Given the description of an element on the screen output the (x, y) to click on. 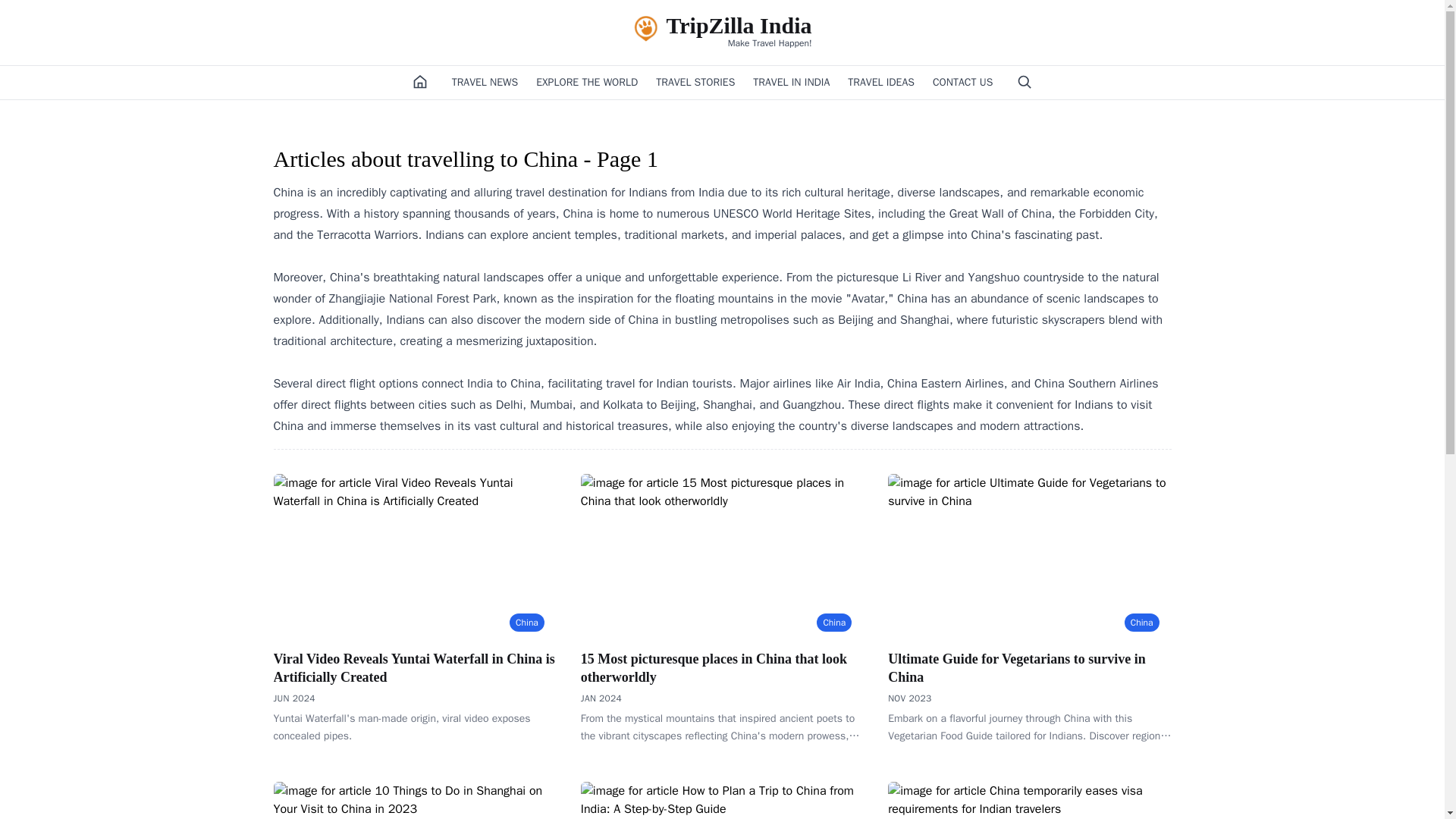
TRAVEL STORIES (695, 82)
China (526, 622)
TRAVEL NEWS (484, 82)
EXPLORE THE WORLD (586, 82)
15 Most picturesque places in China that look otherworldly (720, 32)
China (721, 668)
Ultimate Guide for Vegetarians to survive in China (833, 622)
TRAVEL IN INDIA (1029, 668)
TRAVEL IDEAS (790, 82)
CONTACT US (880, 82)
